Given the description of an element on the screen output the (x, y) to click on. 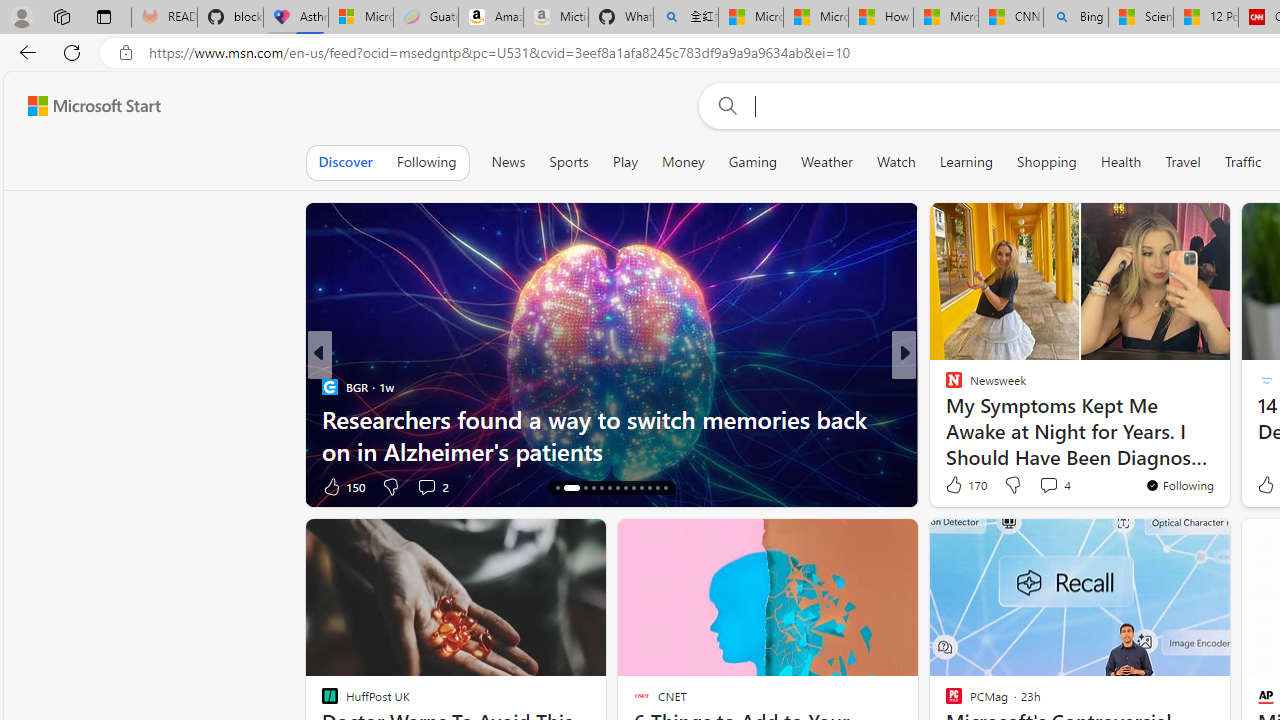
Stacker (944, 386)
CNN - MSN (1011, 17)
View comments 85 Comment (426, 485)
11 Scientific Facts That Public Opinion Refuses to Believe (611, 435)
You're following Newsweek (1179, 485)
Digital Trends (944, 386)
The Independent (944, 386)
AutomationID: tab-14 (556, 487)
